Given the description of an element on the screen output the (x, y) to click on. 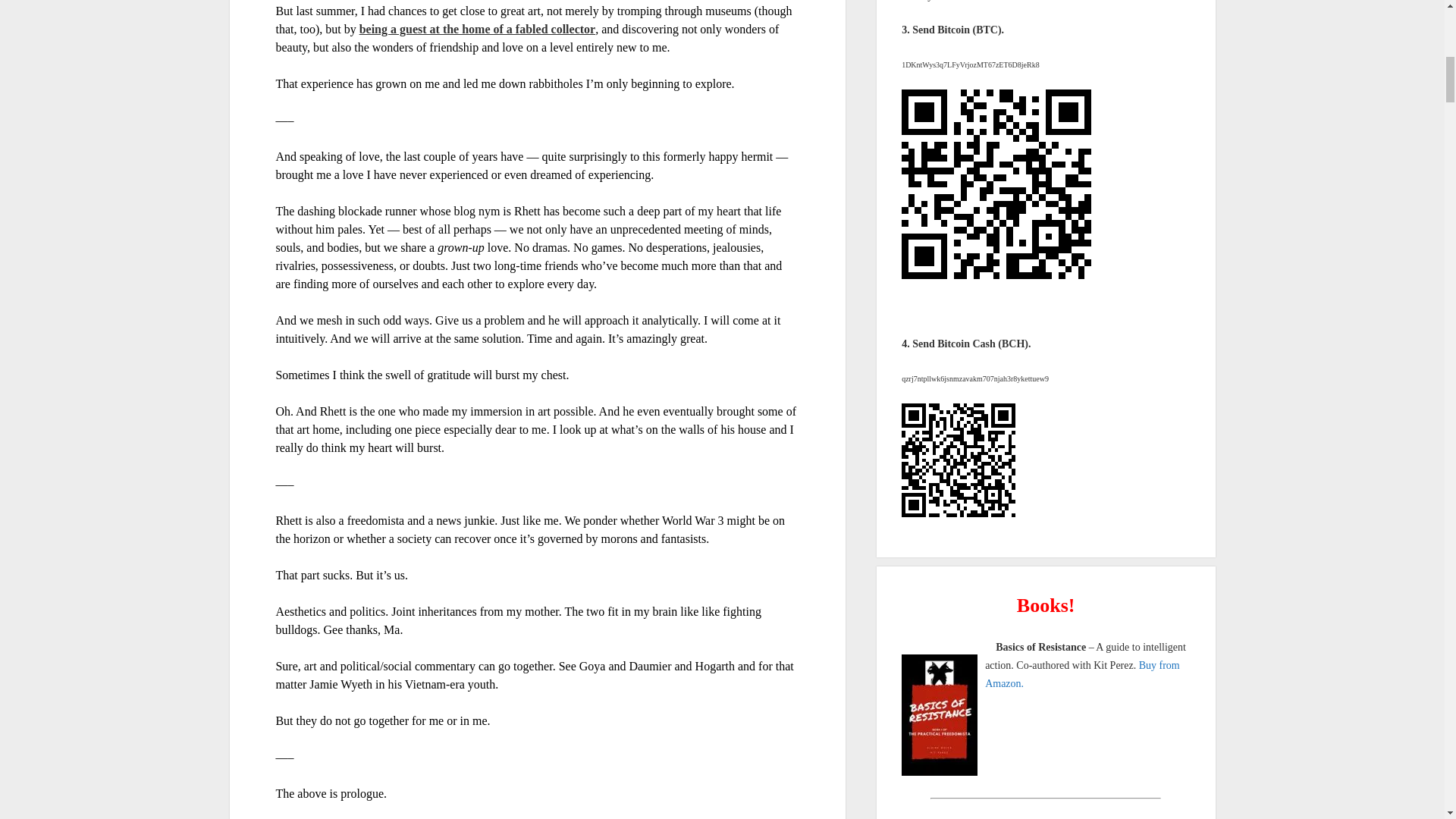
being a guest at the home of a fabled collector (477, 29)
